Given the description of an element on the screen output the (x, y) to click on. 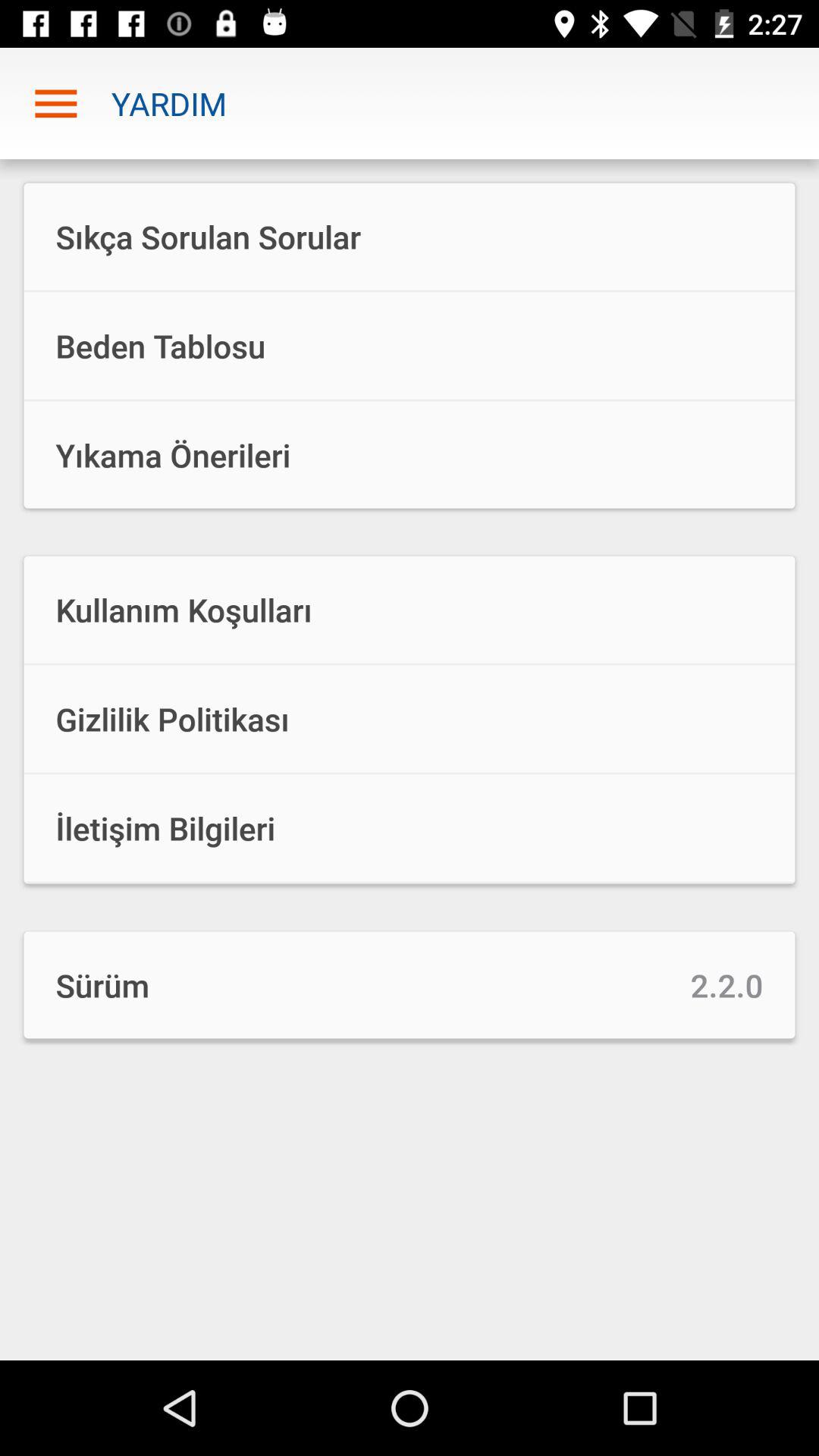
click icon next to yardim icon (55, 103)
